Given the description of an element on the screen output the (x, y) to click on. 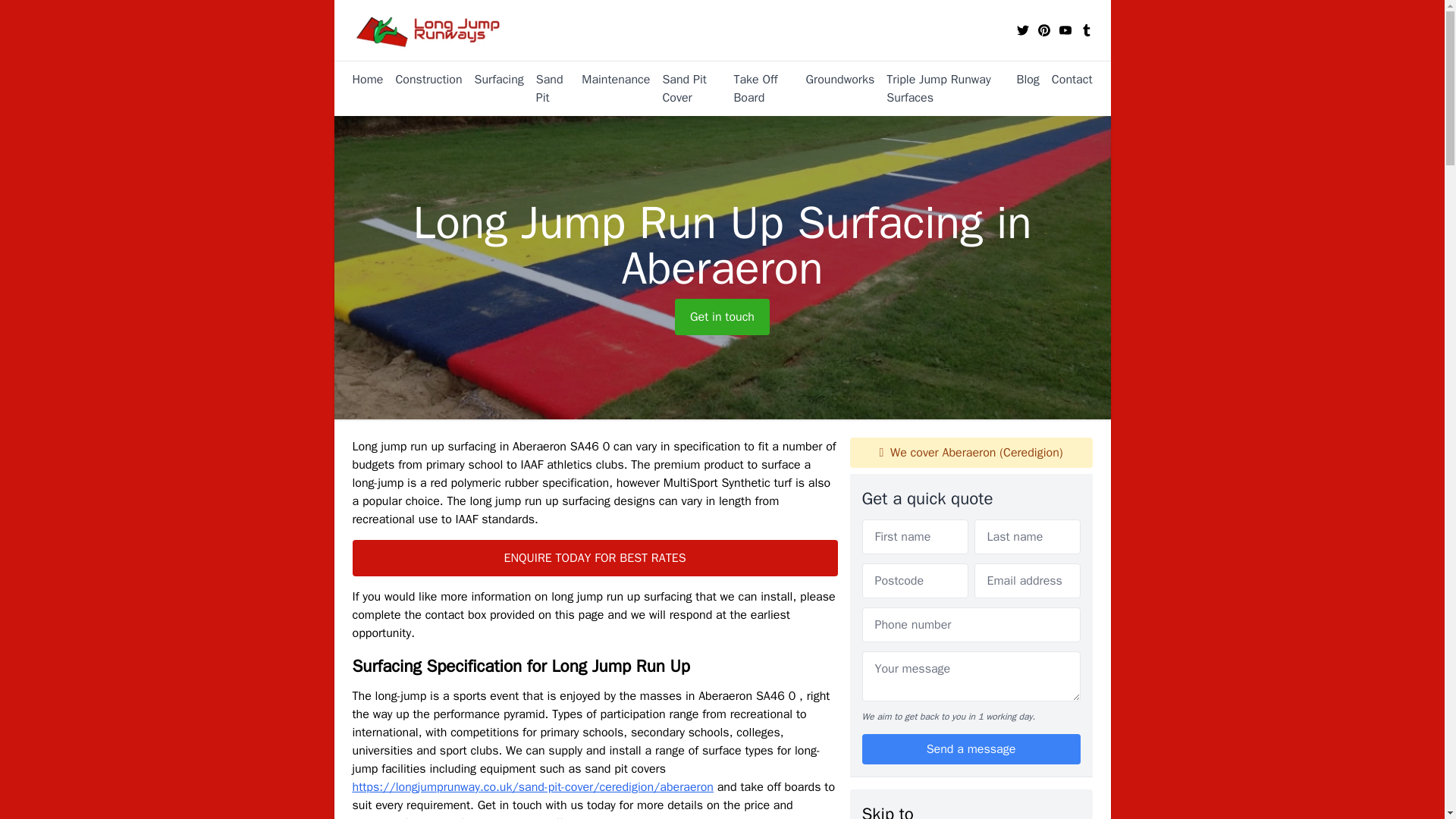
Sand Pit Cover (684, 88)
ENQUIRE TODAY FOR BEST RATES (594, 557)
Triple Jump Runway Surfaces (939, 88)
Surfacing (493, 88)
Blog (1021, 79)
Contact (1066, 79)
Maintenance (609, 88)
Groundworks (834, 88)
Take Off Board (756, 88)
Get in touch (722, 316)
Construction (421, 88)
Sand Pit (547, 88)
Home (367, 88)
